Given the description of an element on the screen output the (x, y) to click on. 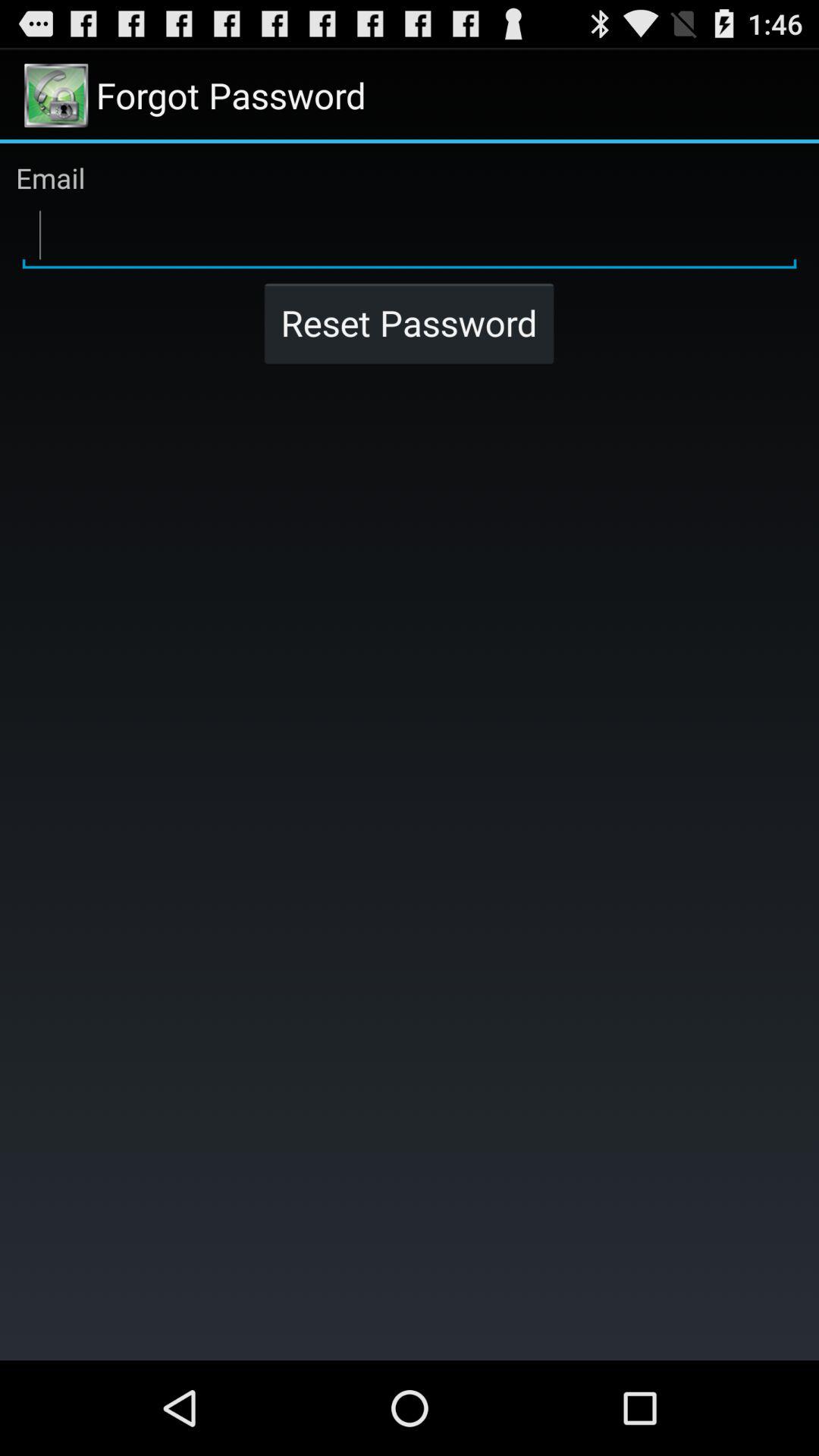
flip to the reset password item (409, 322)
